Given the description of an element on the screen output the (x, y) to click on. 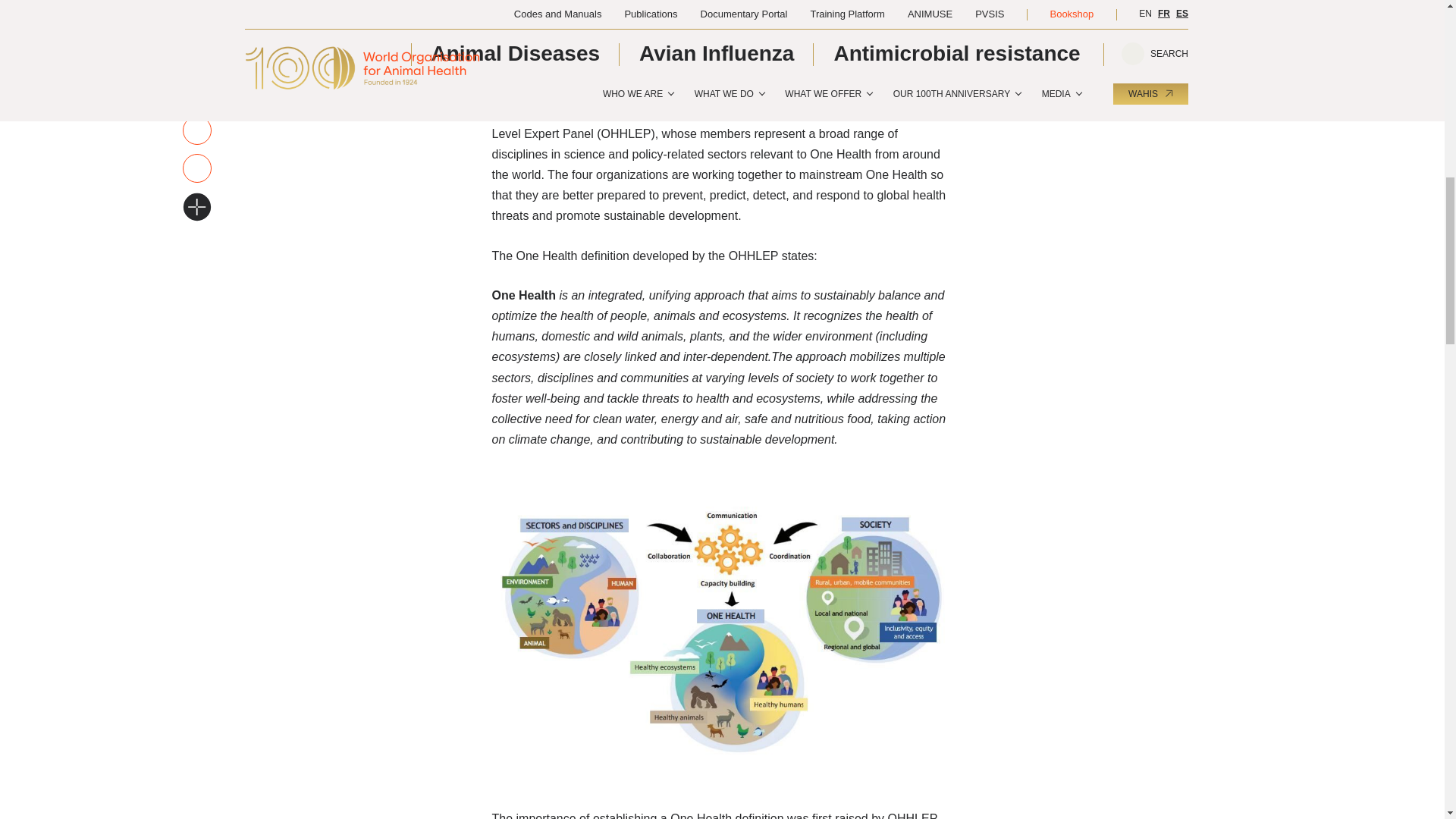
Share on VK (196, 90)
Share (196, 128)
Share on Linkedin (196, 14)
Share by email (196, 166)
Share on Weibo (196, 52)
